Given the description of an element on the screen output the (x, y) to click on. 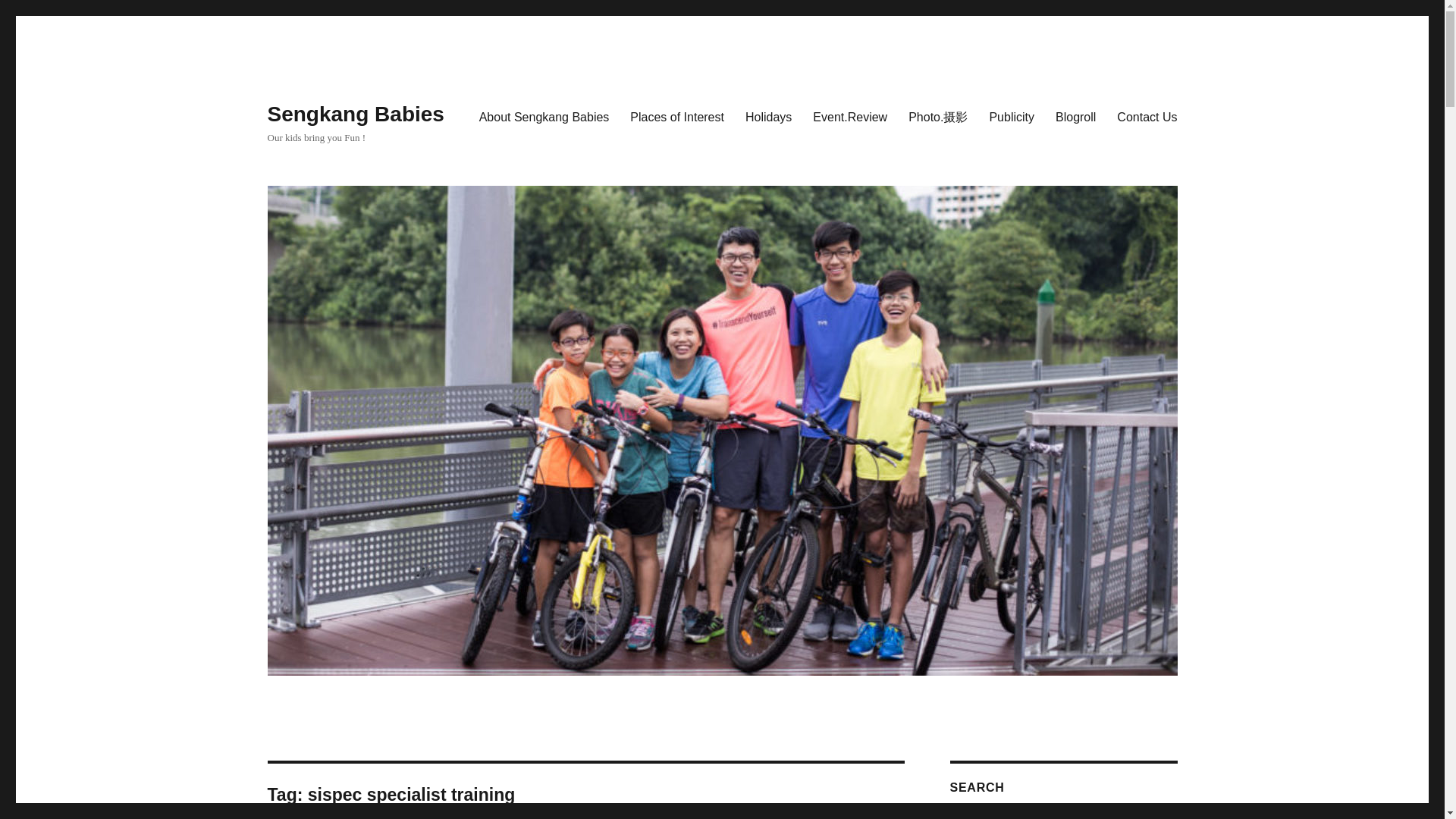
Event.Review (850, 116)
Places of Interest (677, 116)
Contact Us (1147, 116)
Publicity (1011, 116)
About Sengkang Babies (544, 116)
Holidays (768, 116)
Sengkang Babies (355, 114)
Blogroll (1075, 116)
